Given the description of an element on the screen output the (x, y) to click on. 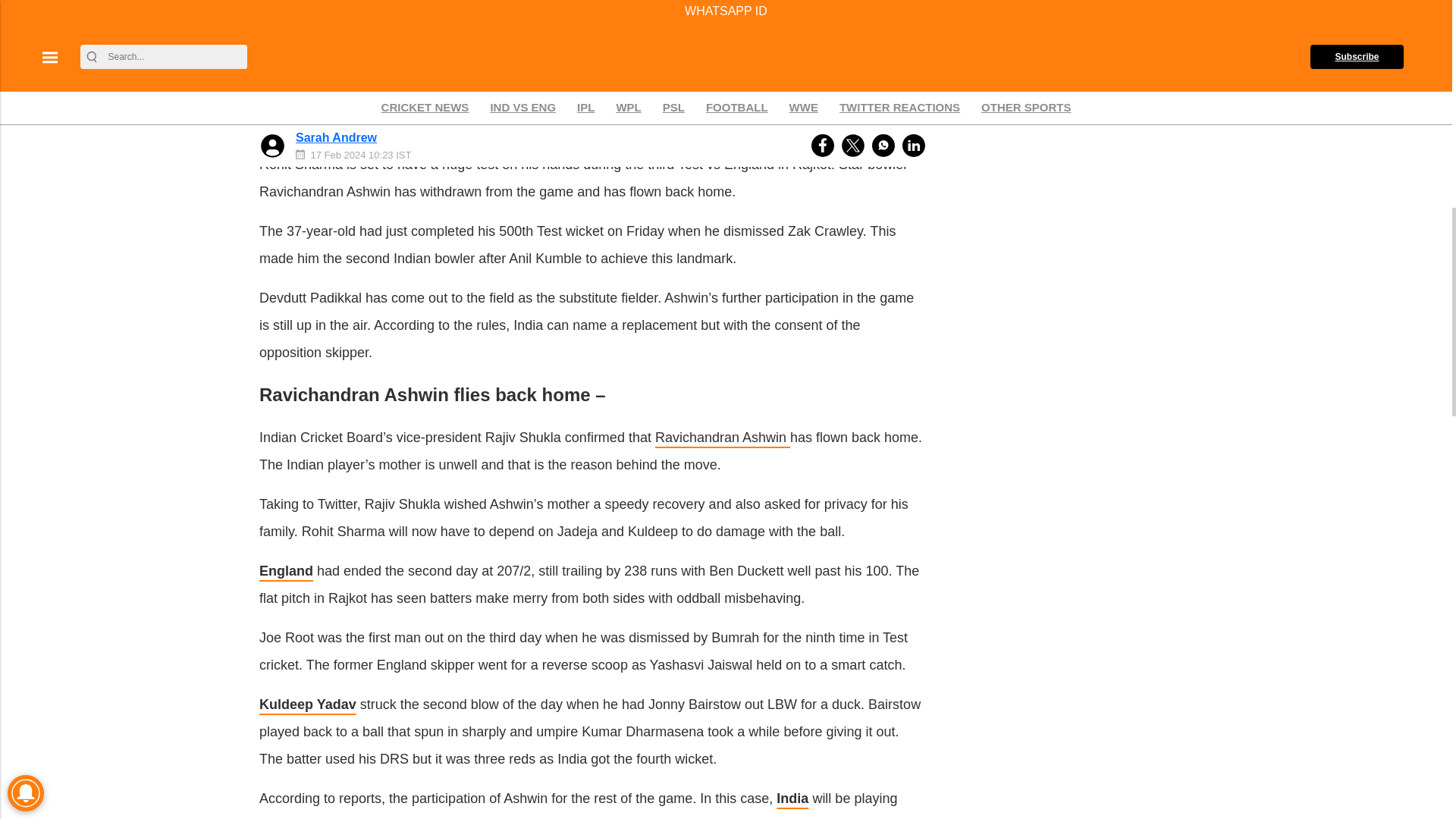
Ravichandran Ashwin (722, 437)
England (286, 570)
Kuldeep Yadav (307, 703)
